Given the description of an element on the screen output the (x, y) to click on. 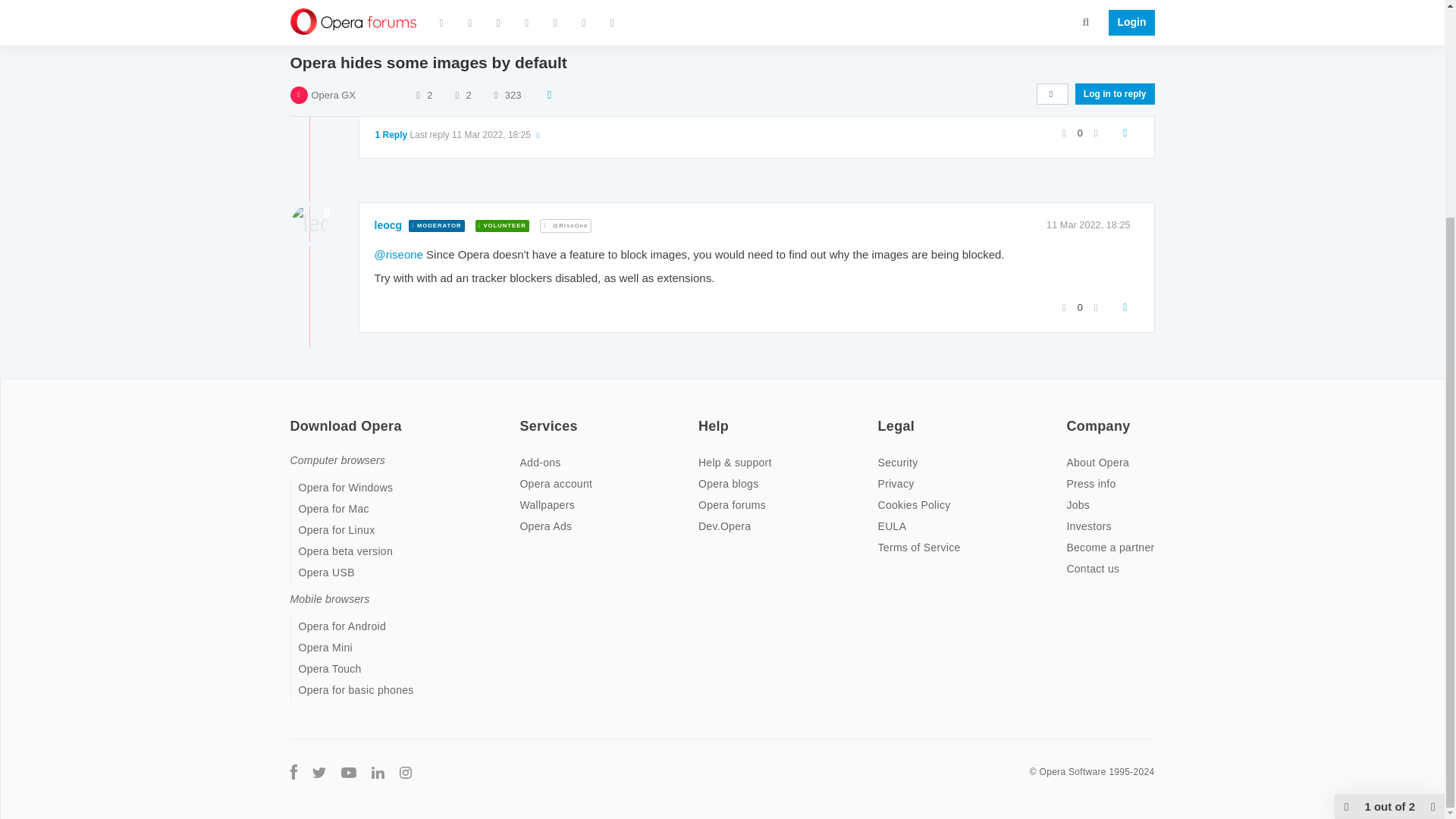
on (293, 415)
11 Mar 2022, 08:13 (1088, 42)
RiseOne (395, 42)
on (1070, 415)
on (881, 415)
on (523, 415)
on (702, 415)
